Given the description of an element on the screen output the (x, y) to click on. 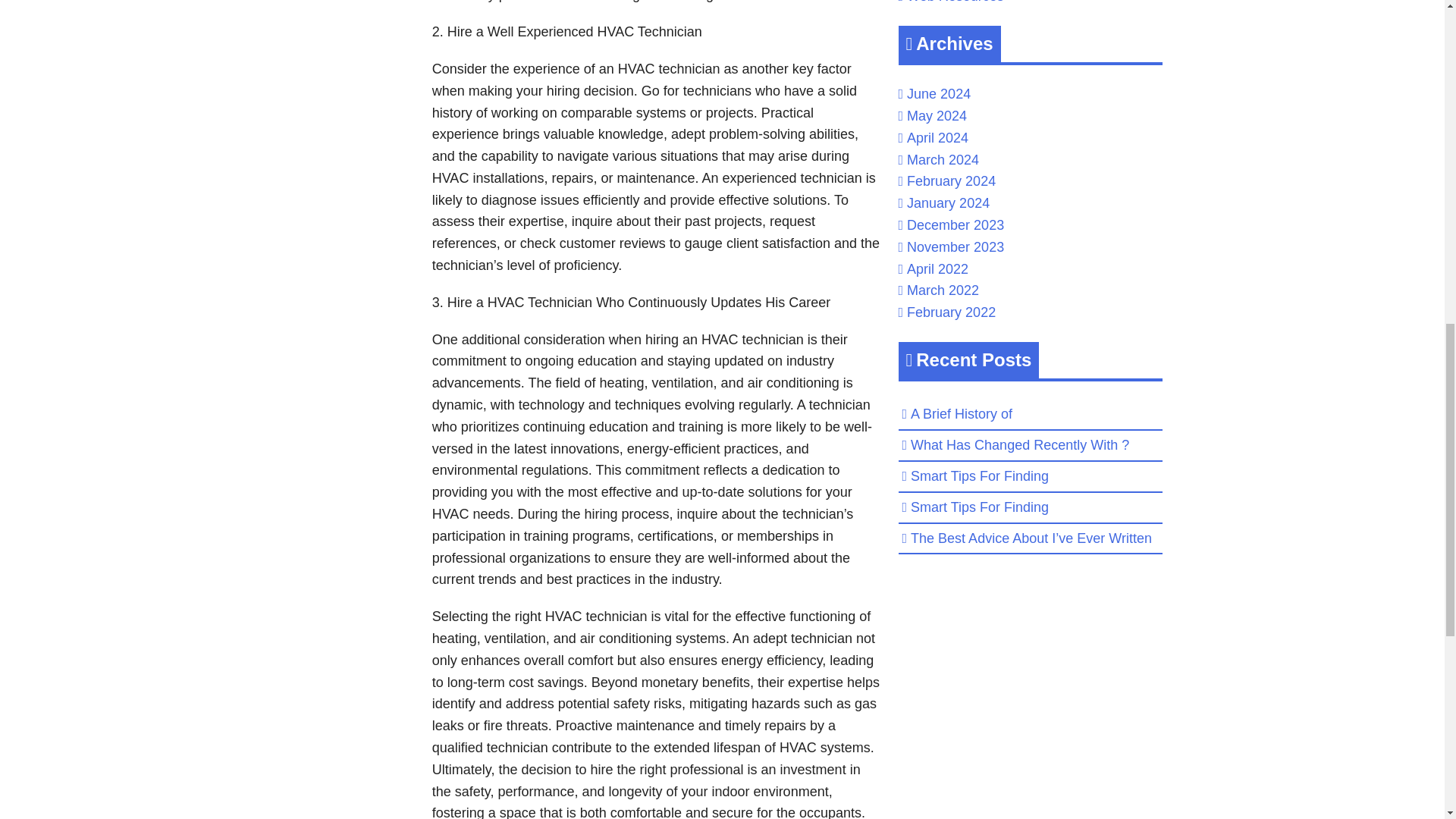
Web Resources (955, 2)
